Given the description of an element on the screen output the (x, y) to click on. 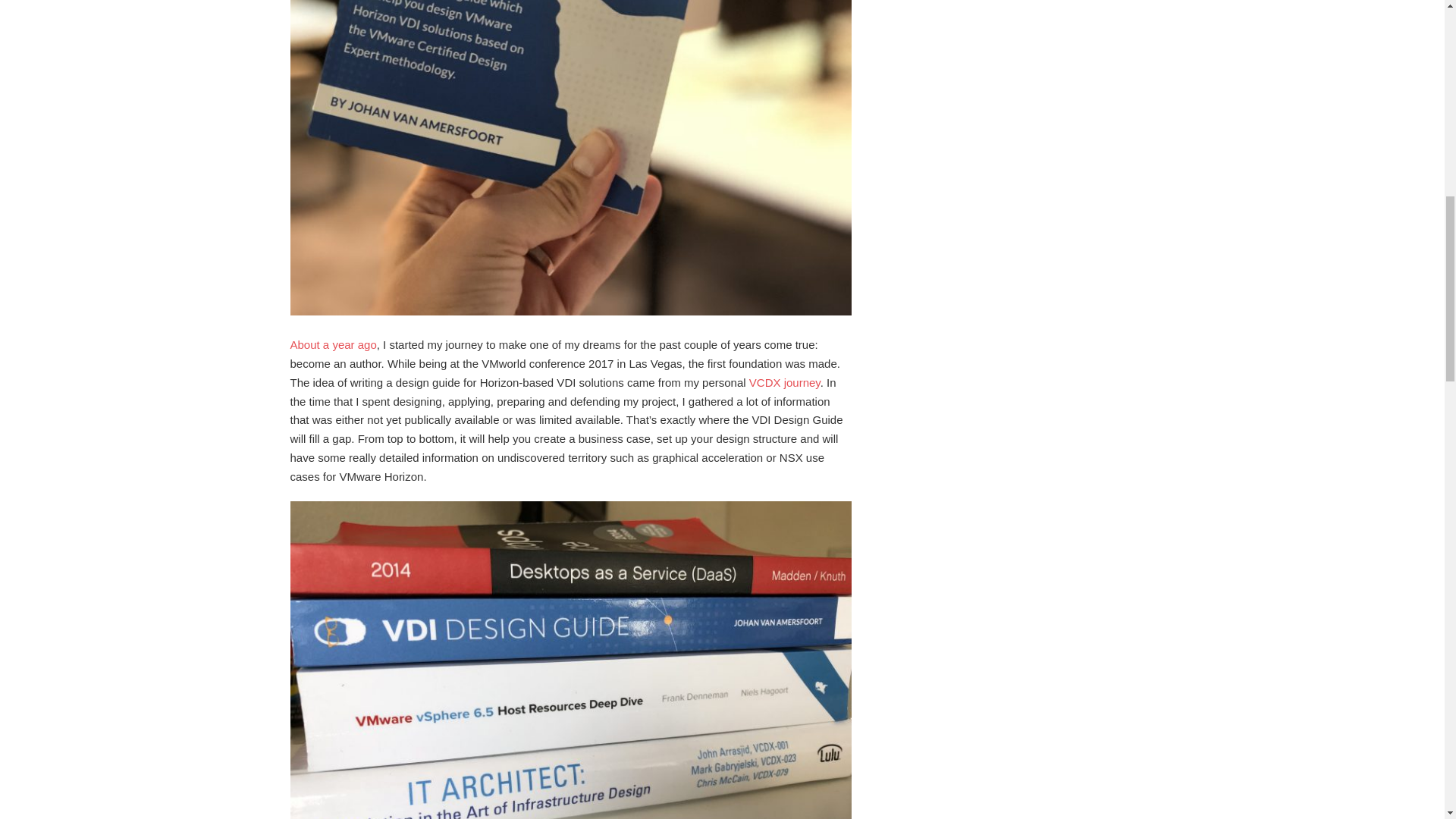
VCDX journey (785, 382)
About a year ago (332, 344)
